Given the description of an element on the screen output the (x, y) to click on. 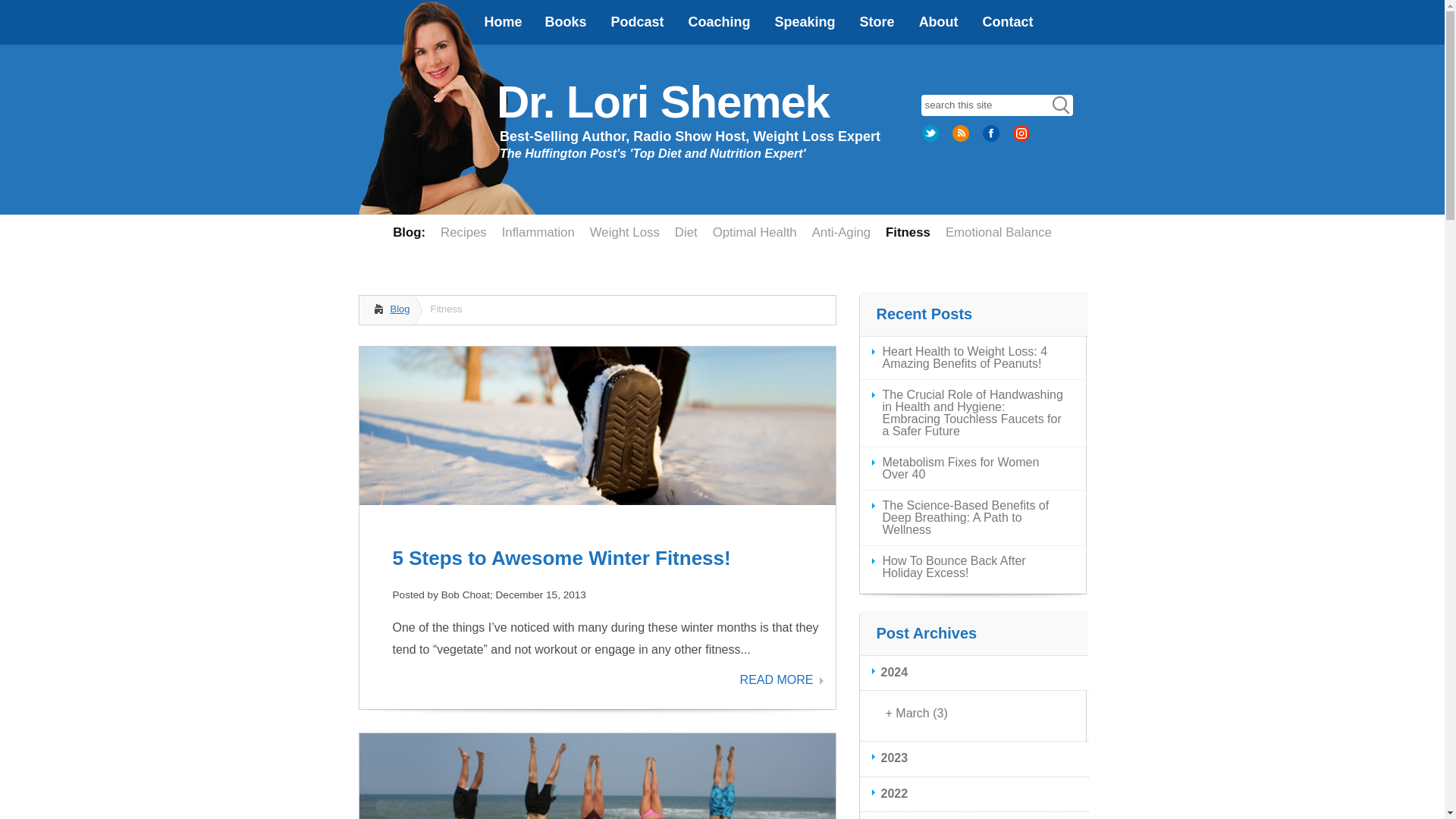
Anti-Aging (841, 232)
Fitness (907, 232)
Home (500, 22)
5 Steps to Awesome Winter Fitness! (561, 558)
READ MORE (781, 680)
Emotional Balance (998, 232)
Store (877, 22)
Follow me on Twitter! (931, 139)
Recipes (463, 232)
Contact (1008, 22)
Weight Loss (624, 232)
Friend me on Facebook! (992, 139)
Subscribe to my feed! (961, 139)
Coaching (719, 22)
